Given the description of an element on the screen output the (x, y) to click on. 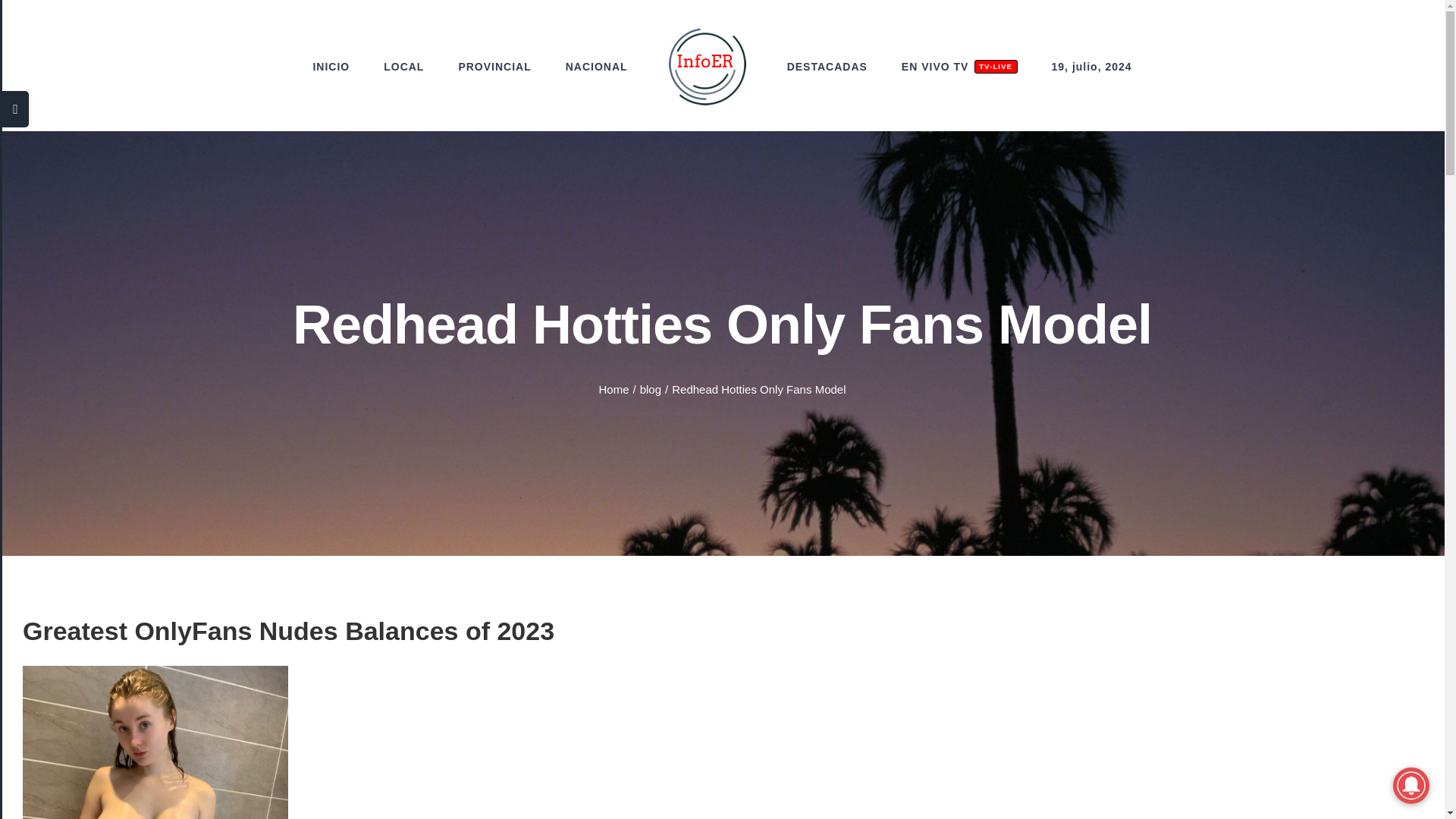
DESTACADAS (827, 66)
NACIONAL (596, 66)
19, julio, 2024 (1091, 66)
Home (613, 389)
PROVINCIAL (959, 66)
blog (494, 66)
